Given the description of an element on the screen output the (x, y) to click on. 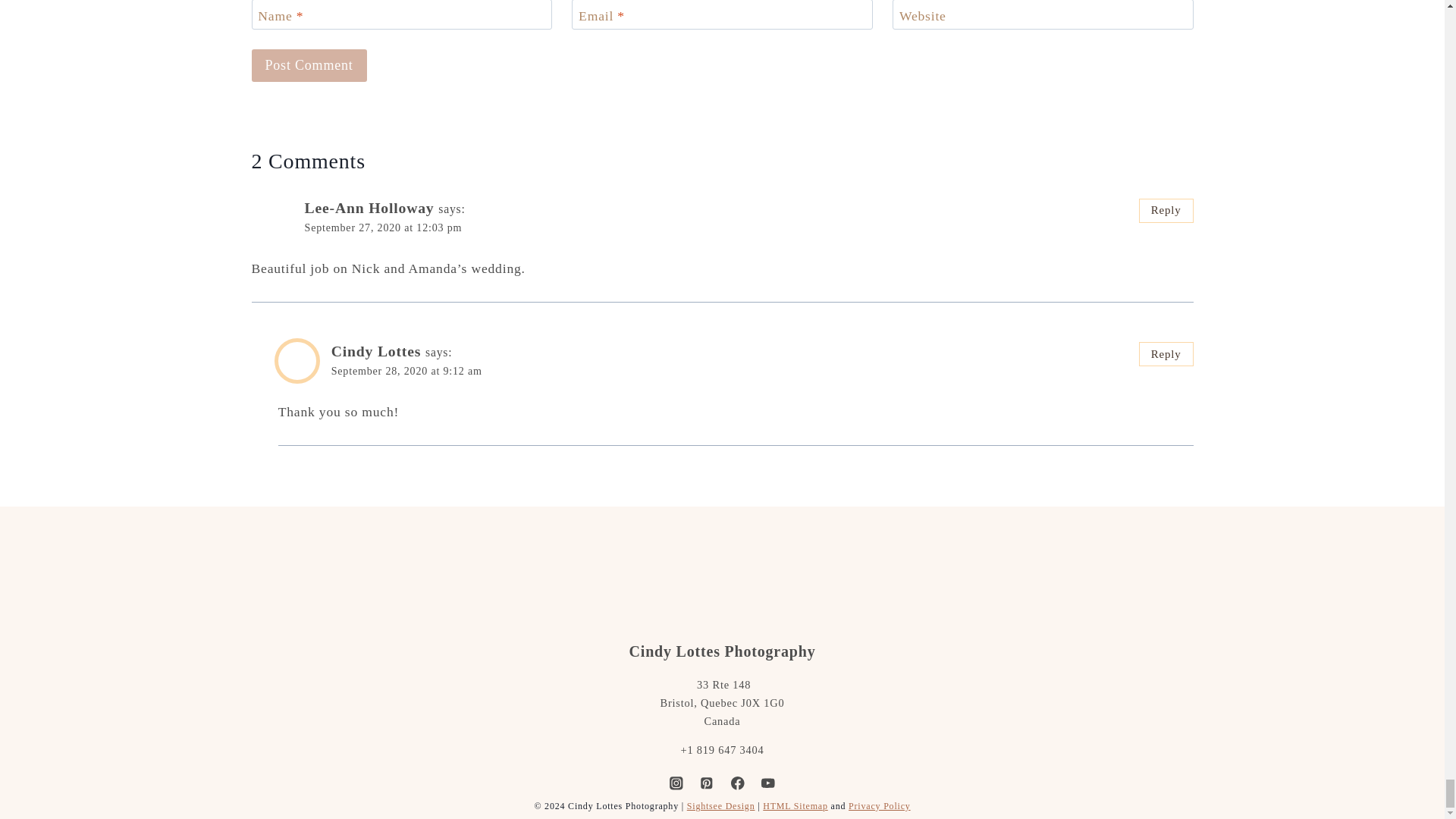
Post Comment (308, 65)
homepage (721, 574)
